Given the description of an element on the screen output the (x, y) to click on. 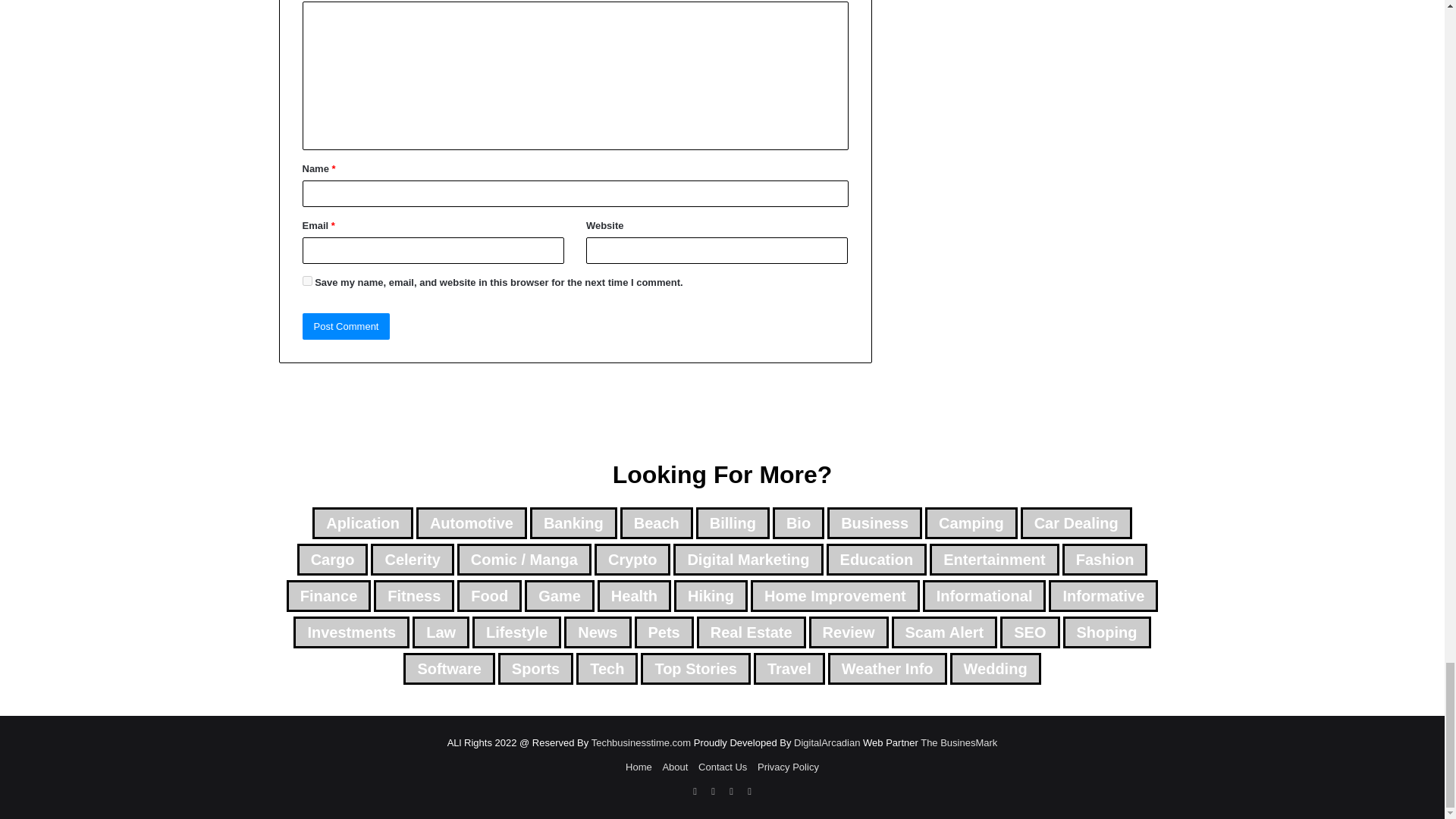
yes (306, 280)
Post Comment (345, 325)
